Given the description of an element on the screen output the (x, y) to click on. 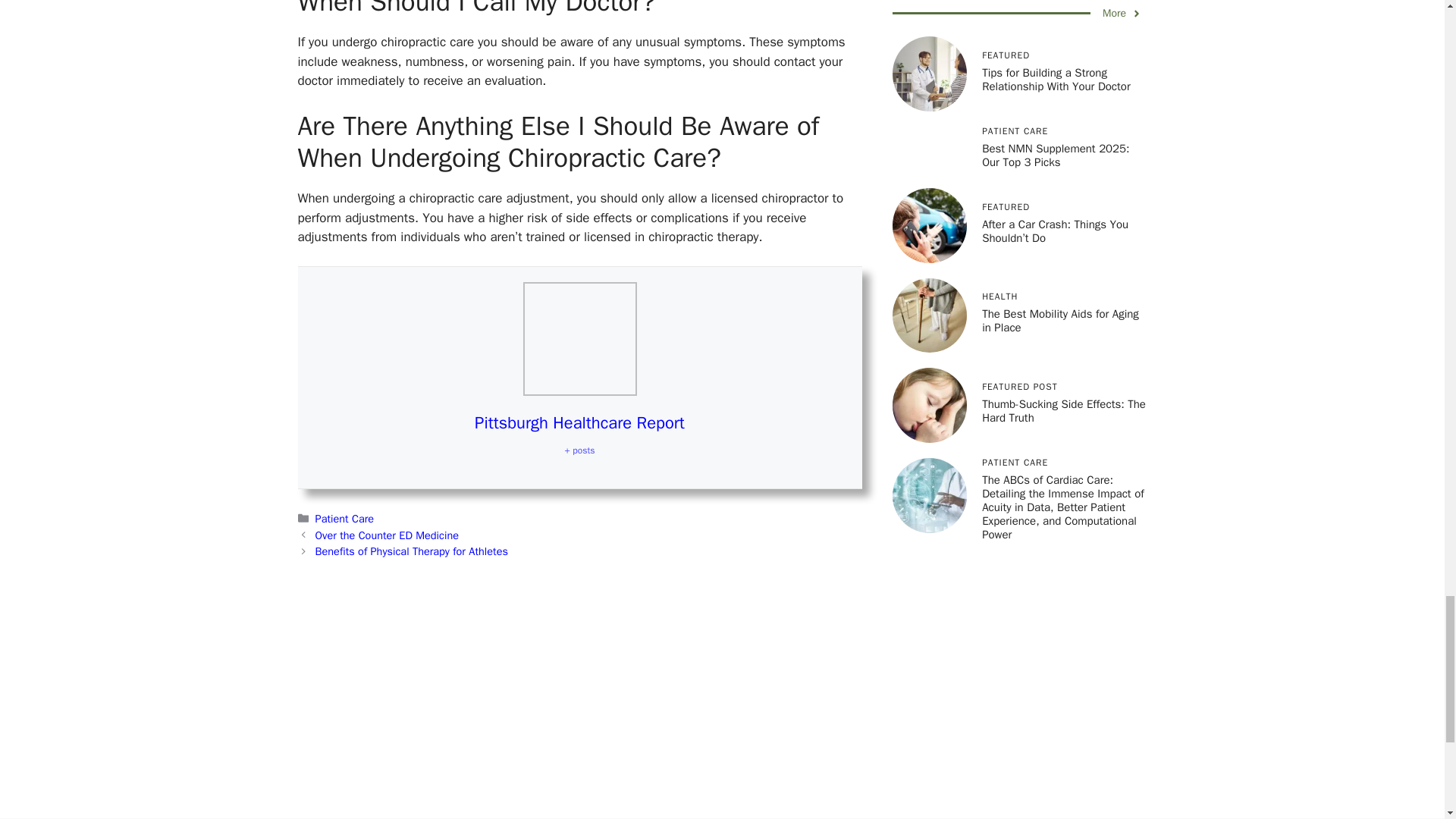
What Does Chiropractic Care Help With? 1 (579, 338)
Benefits of Physical Therapy for Athletes (411, 550)
Patient Care (344, 518)
Over the Counter ED Medicine (386, 535)
Pittsburgh Healthcare Report (579, 423)
